Given the description of an element on the screen output the (x, y) to click on. 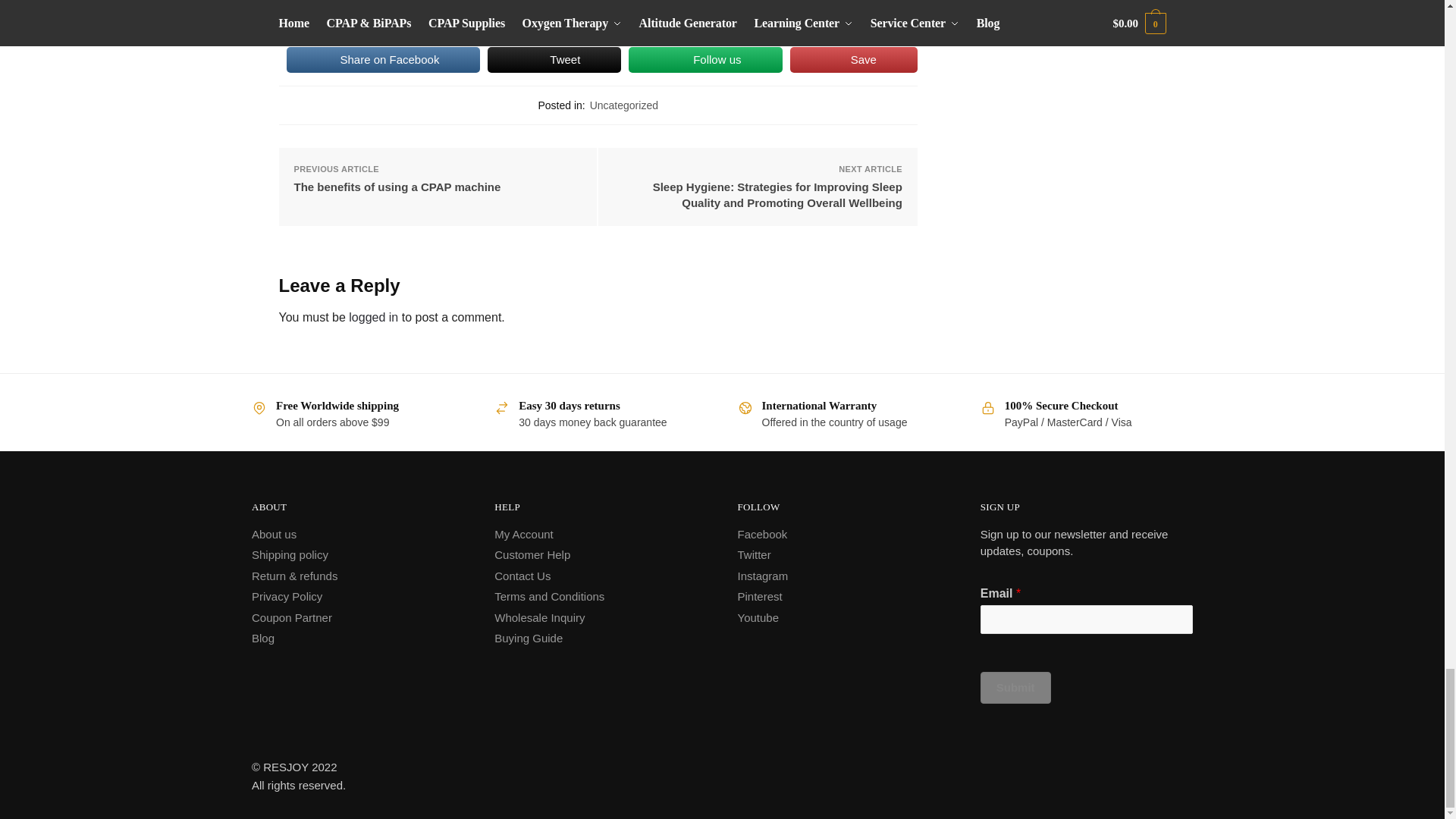
RESJOY INSTAGRAM (761, 575)
RESJOY PINTEREST (758, 595)
RESJOY FACEBOOK (761, 533)
